Given the description of an element on the screen output the (x, y) to click on. 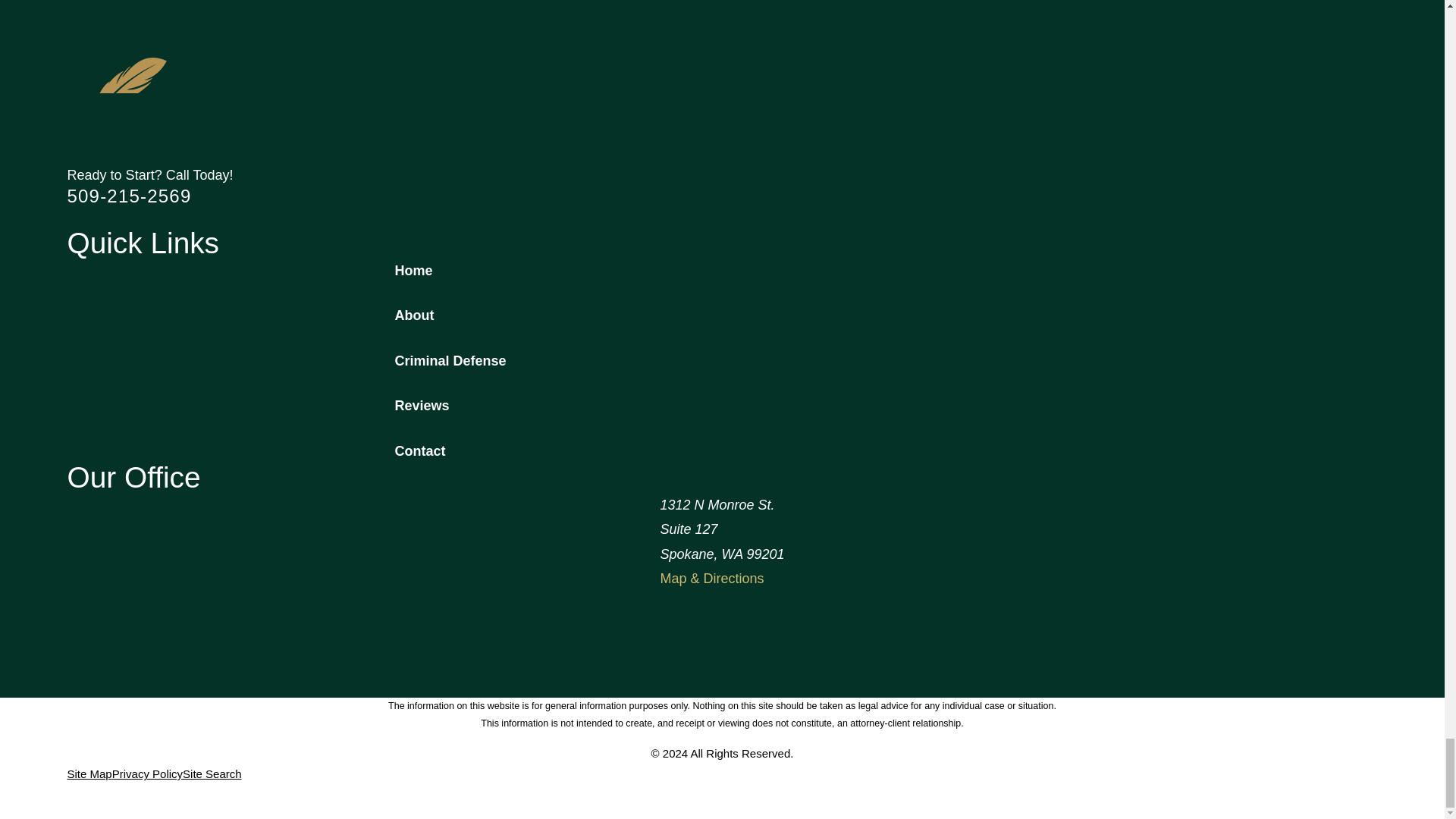
Avvo (115, 219)
Google Business Profile (75, 219)
